Given the description of an element on the screen output the (x, y) to click on. 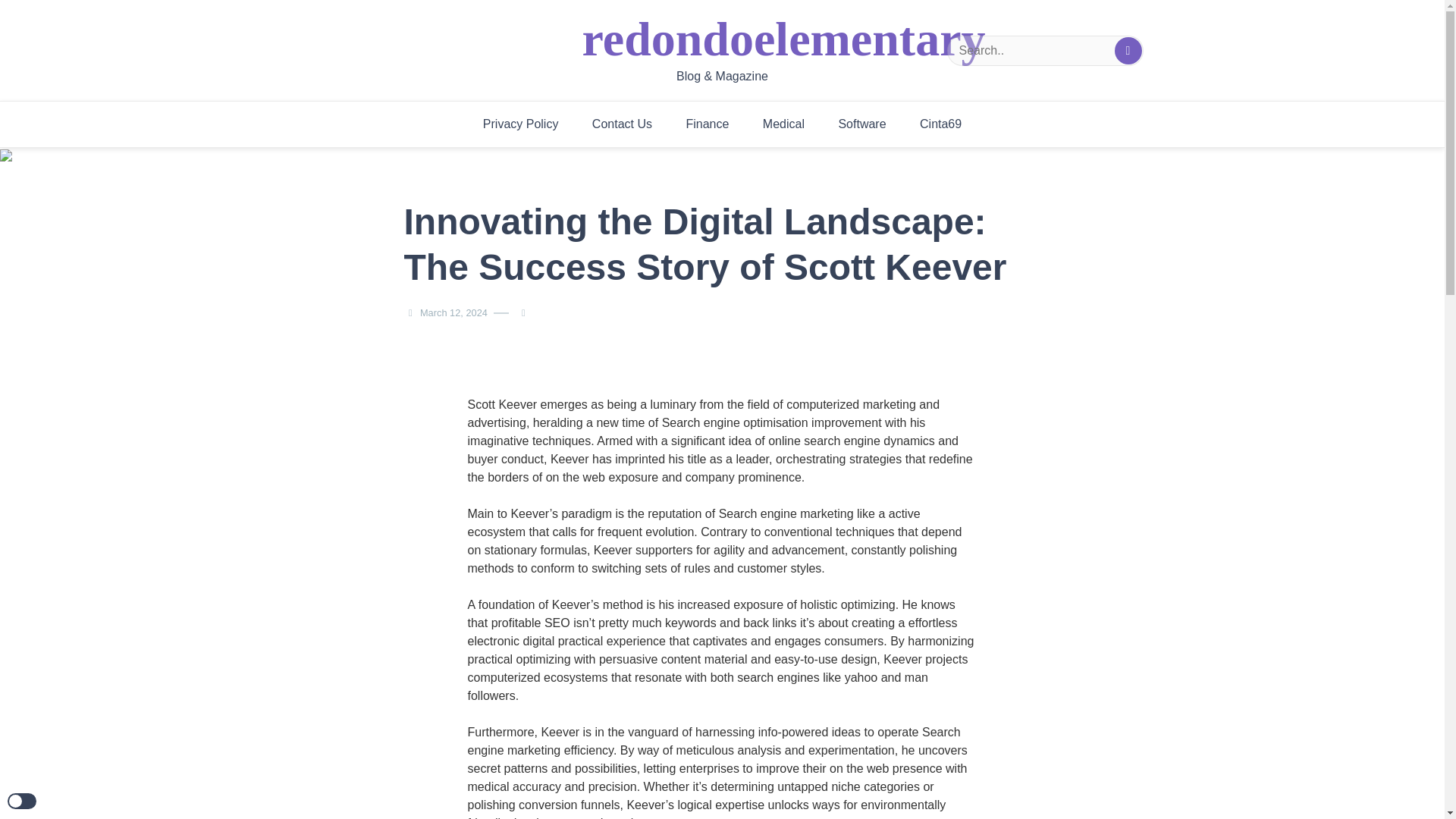
Finance (706, 123)
Medical (783, 123)
March 12, 2024 (453, 312)
Contact Us (621, 123)
Privacy Policy (520, 123)
Software (861, 123)
Cinta69 (940, 123)
redondoelementary (783, 39)
